Given the description of an element on the screen output the (x, y) to click on. 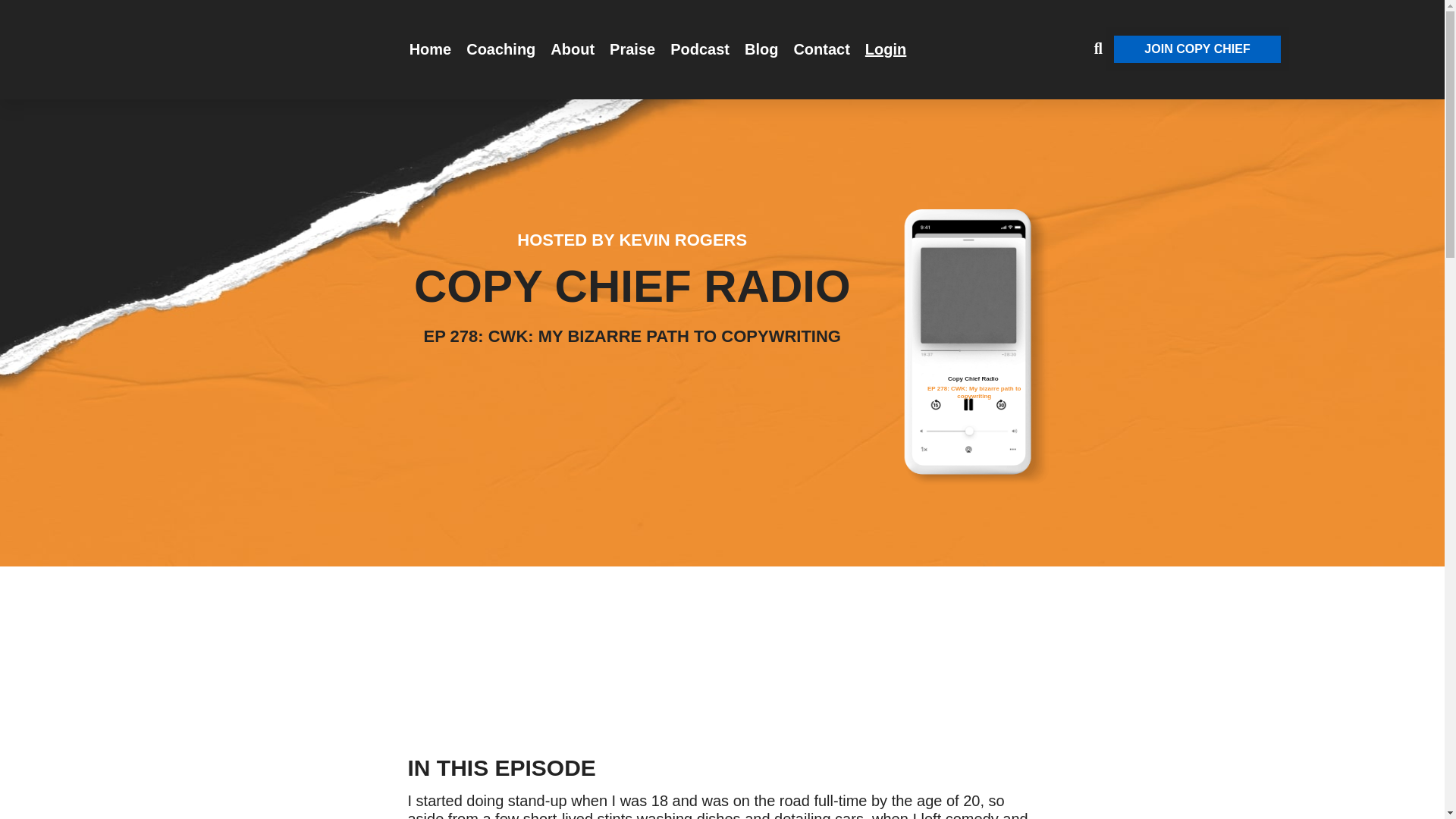
My bizarre path to copywriting (977, 303)
Embed Player (721, 616)
Coaching (500, 48)
JOIN COPY CHIEF (1196, 49)
